Given the description of an element on the screen output the (x, y) to click on. 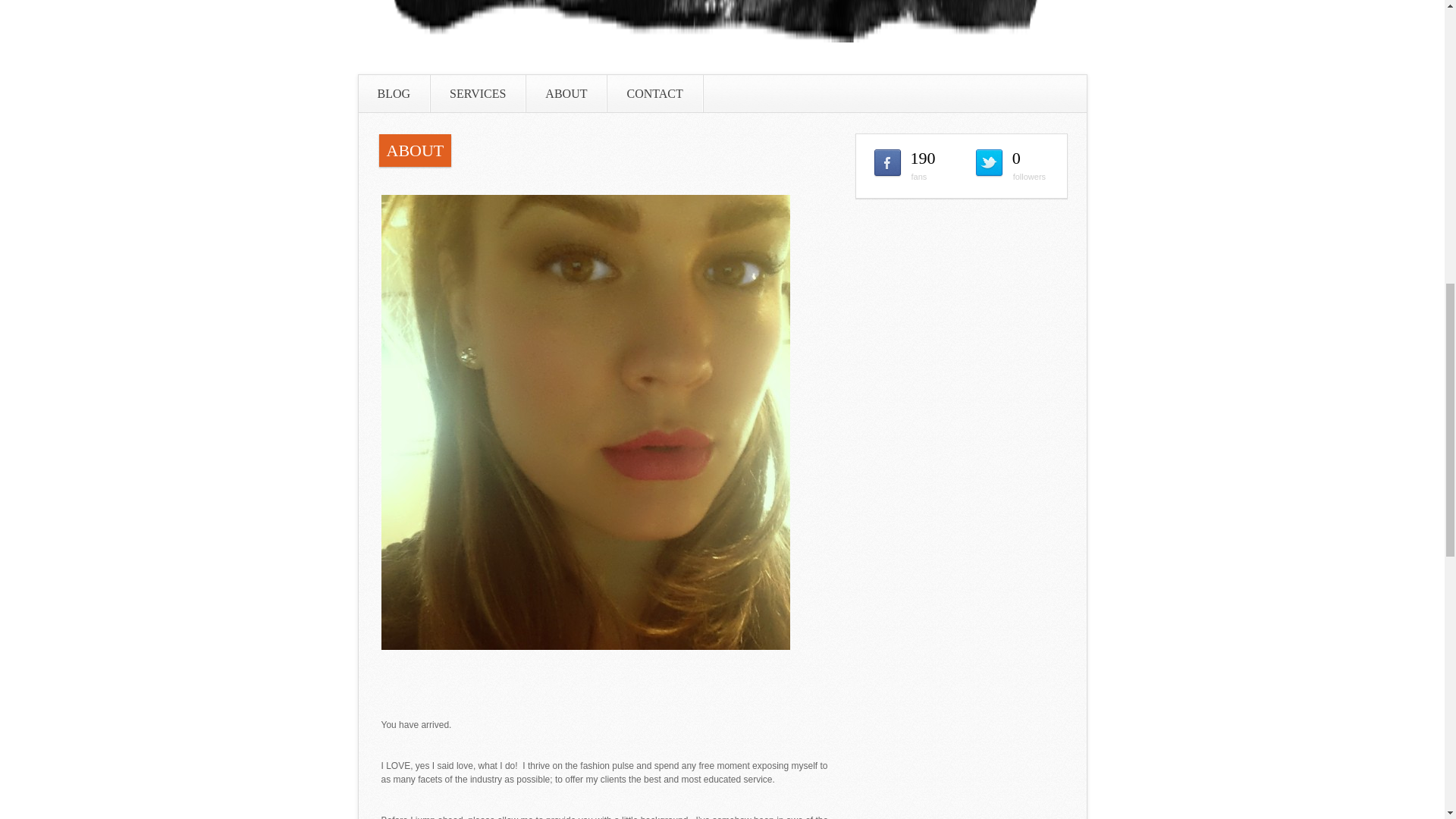
CONTACT (654, 93)
SERVICES (477, 93)
ABOUT (566, 93)
BLOG (393, 93)
